Given the description of an element on the screen output the (x, y) to click on. 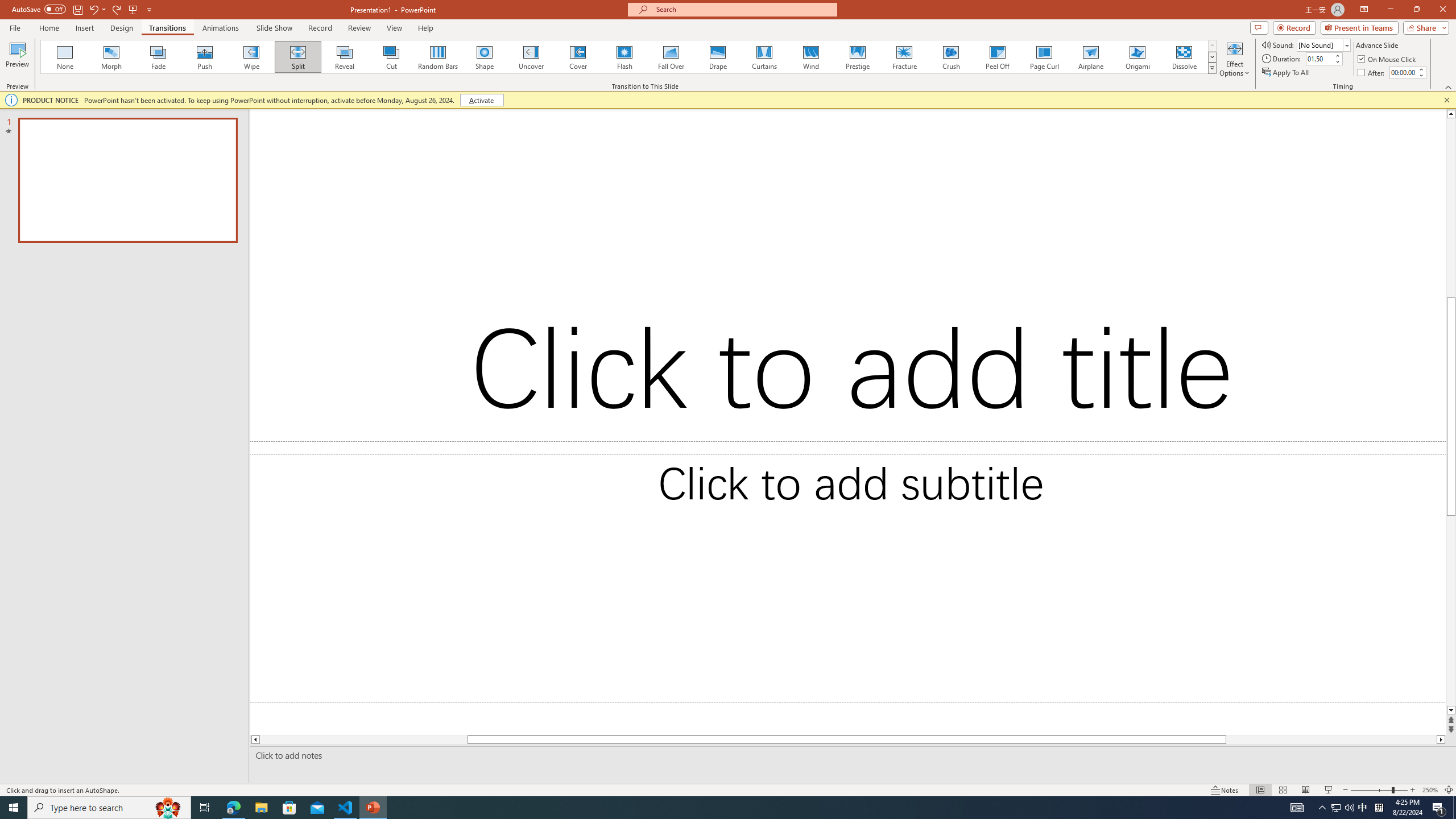
Flash (624, 56)
On Mouse Click (1387, 58)
Cut (391, 56)
Fall Over (670, 56)
After (1403, 72)
Apply To All (1286, 72)
Effect Options (1234, 58)
More (1420, 69)
